Given the description of an element on the screen output the (x, y) to click on. 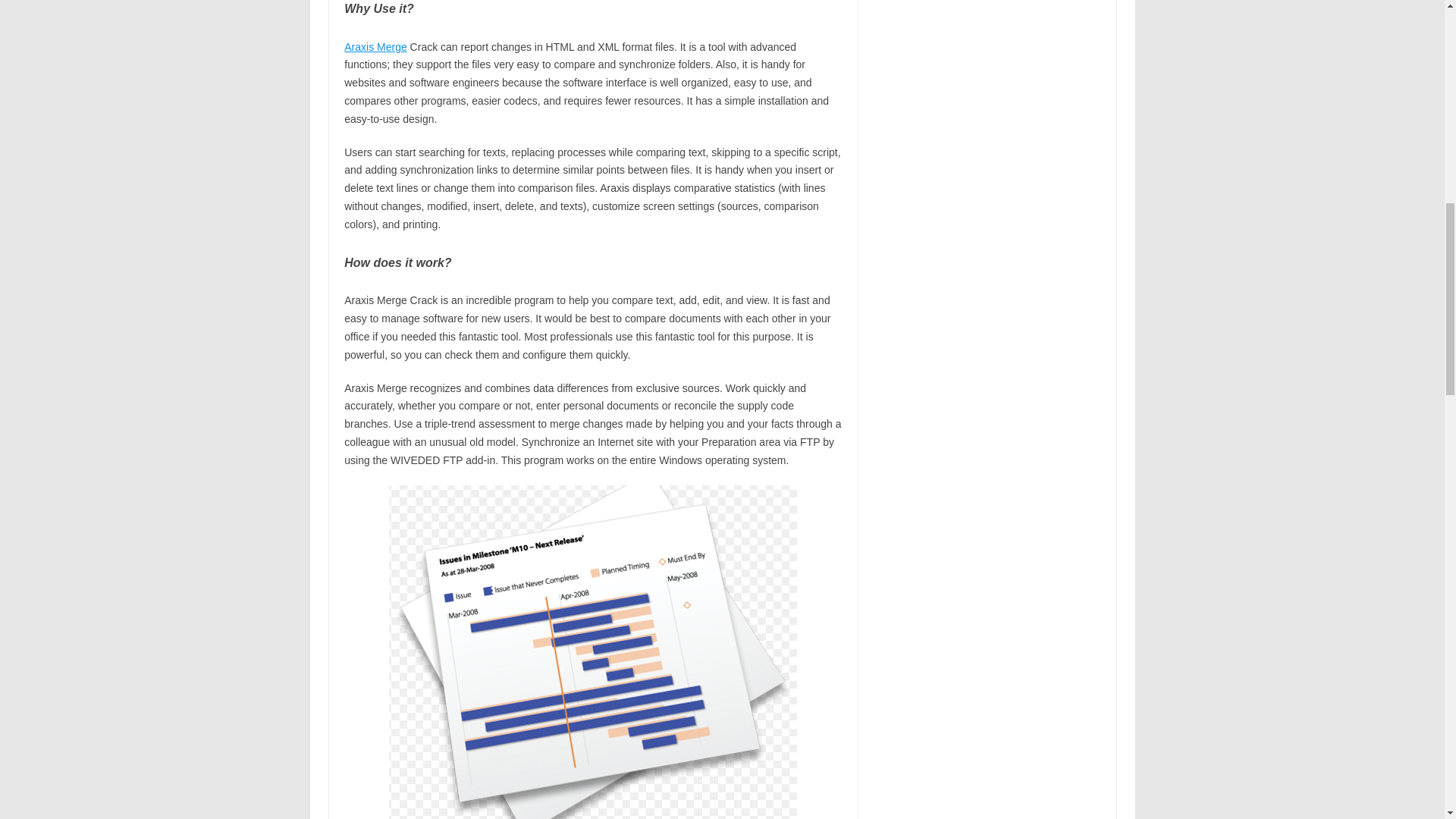
Araxis Merge (374, 46)
